Given the description of an element on the screen output the (x, y) to click on. 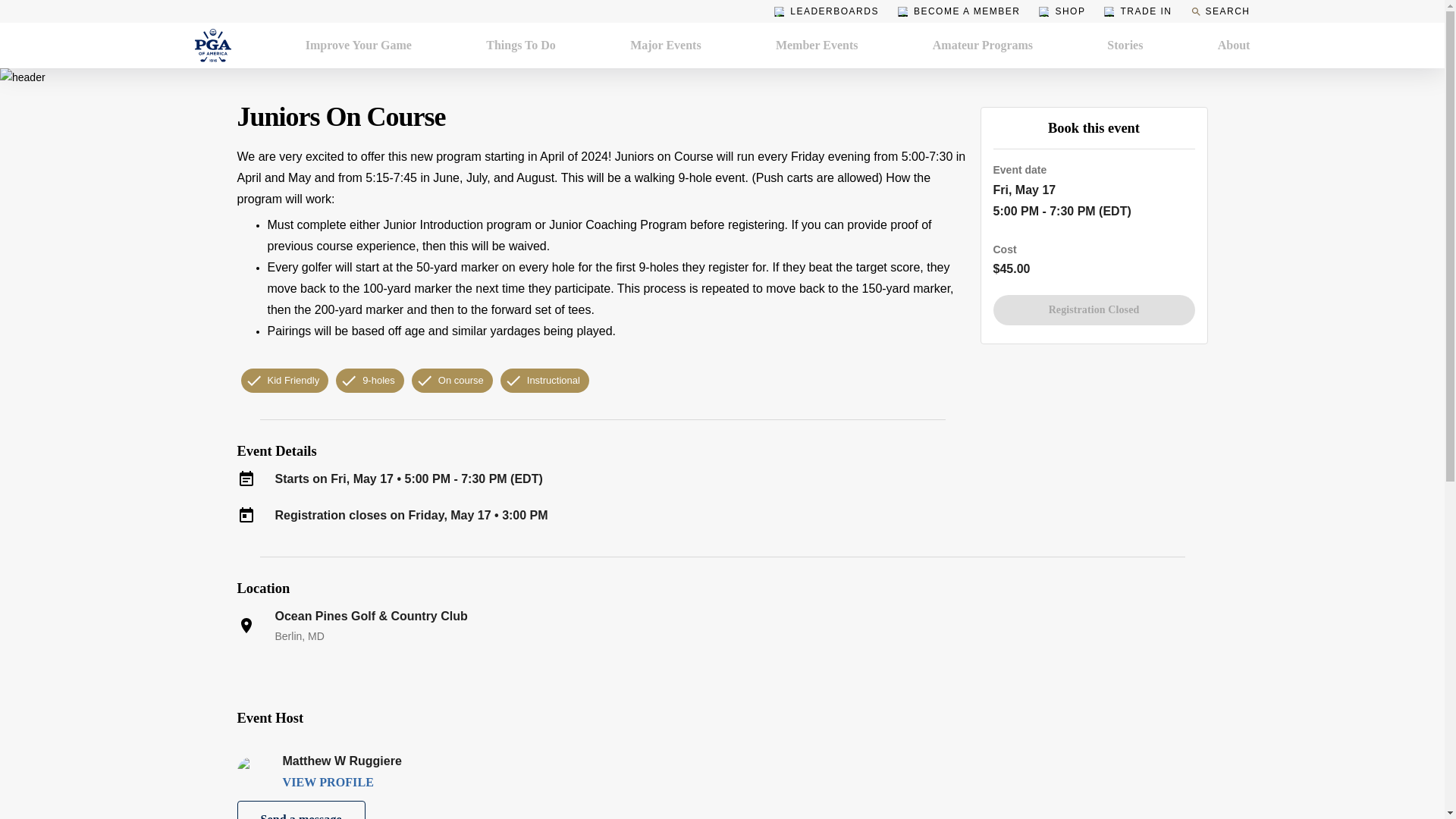
PGA Home Page (211, 44)
Things To Do (521, 44)
LEADERBOARDS (826, 10)
SHOP (1061, 10)
BECOME A MEMBER (959, 10)
Major Events (665, 44)
Member Events (817, 44)
SEARCH (1220, 11)
Improve Your Game (358, 44)
Amateur Programs (982, 44)
About (1233, 44)
Stories (1124, 44)
TRADE IN (1137, 10)
